Given the description of an element on the screen output the (x, y) to click on. 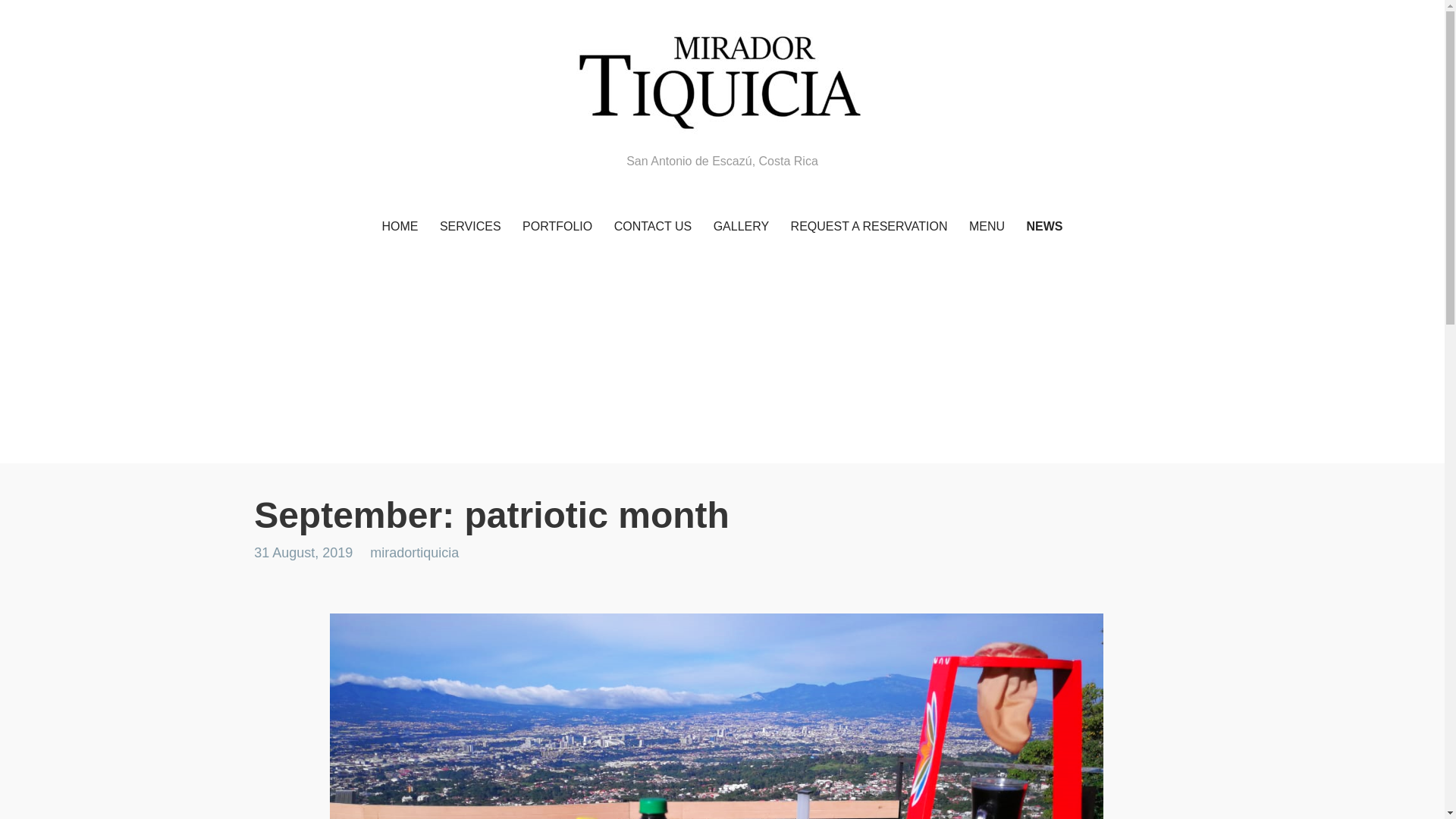
Posts by miradortiquicia (413, 552)
CONTACT US (653, 227)
PORTFOLIO (557, 227)
HOME (399, 227)
SERVICES (470, 227)
MENU (986, 227)
GALLERY (741, 227)
NEWS (1044, 227)
REQUEST A RESERVATION (868, 227)
miradortiquicia (413, 552)
